Given the description of an element on the screen output the (x, y) to click on. 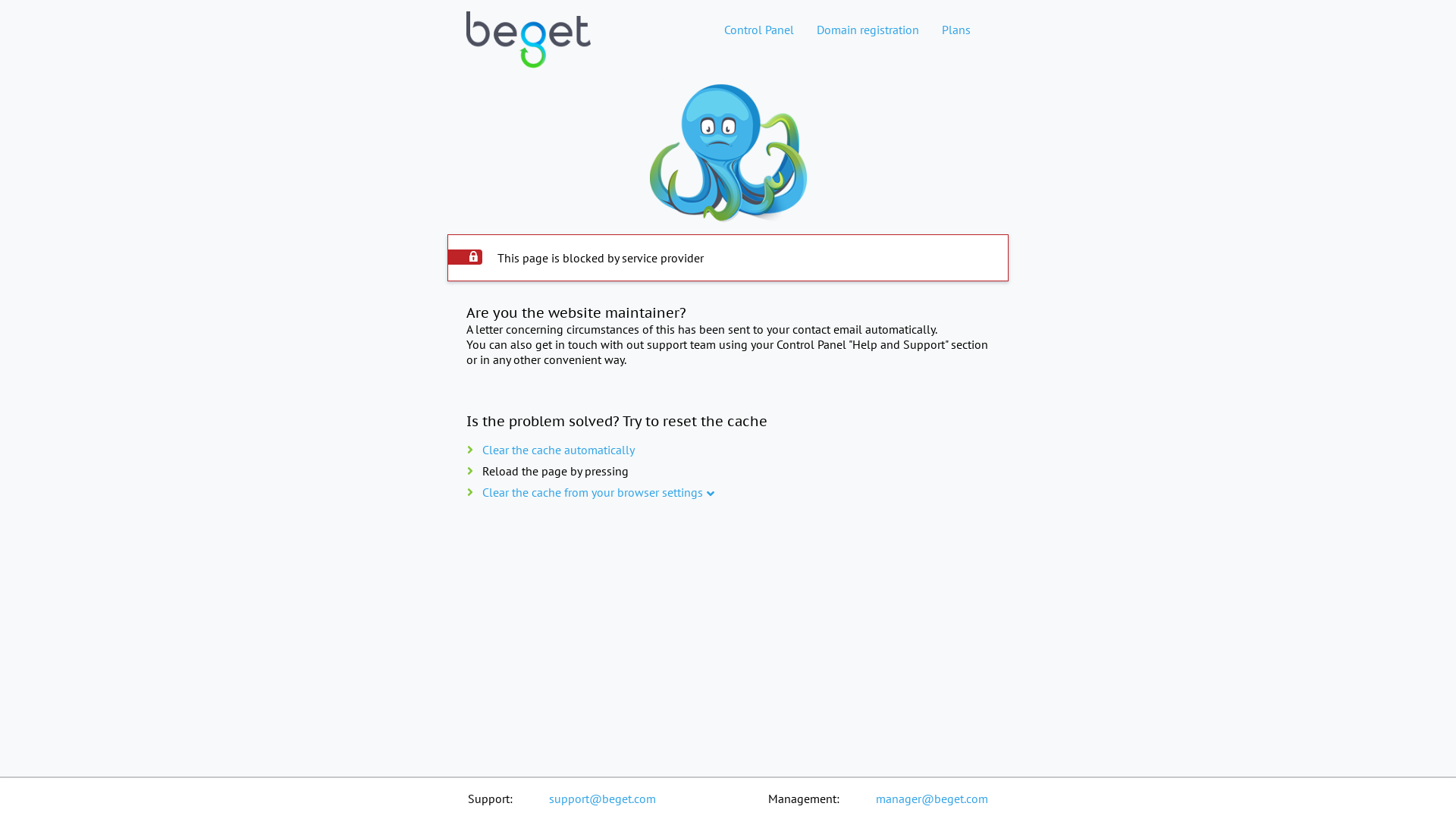
Web hosting home page Element type: hover (528, 51)
manager@beget.com Element type: text (931, 798)
Clear the cache from your browser settings Element type: text (592, 491)
support@beget.com Element type: text (602, 798)
Domain registration Element type: text (867, 29)
Control Panel Element type: text (758, 29)
Plans Element type: text (956, 29)
Clear the cache automatically Element type: text (558, 449)
